Given the description of an element on the screen output the (x, y) to click on. 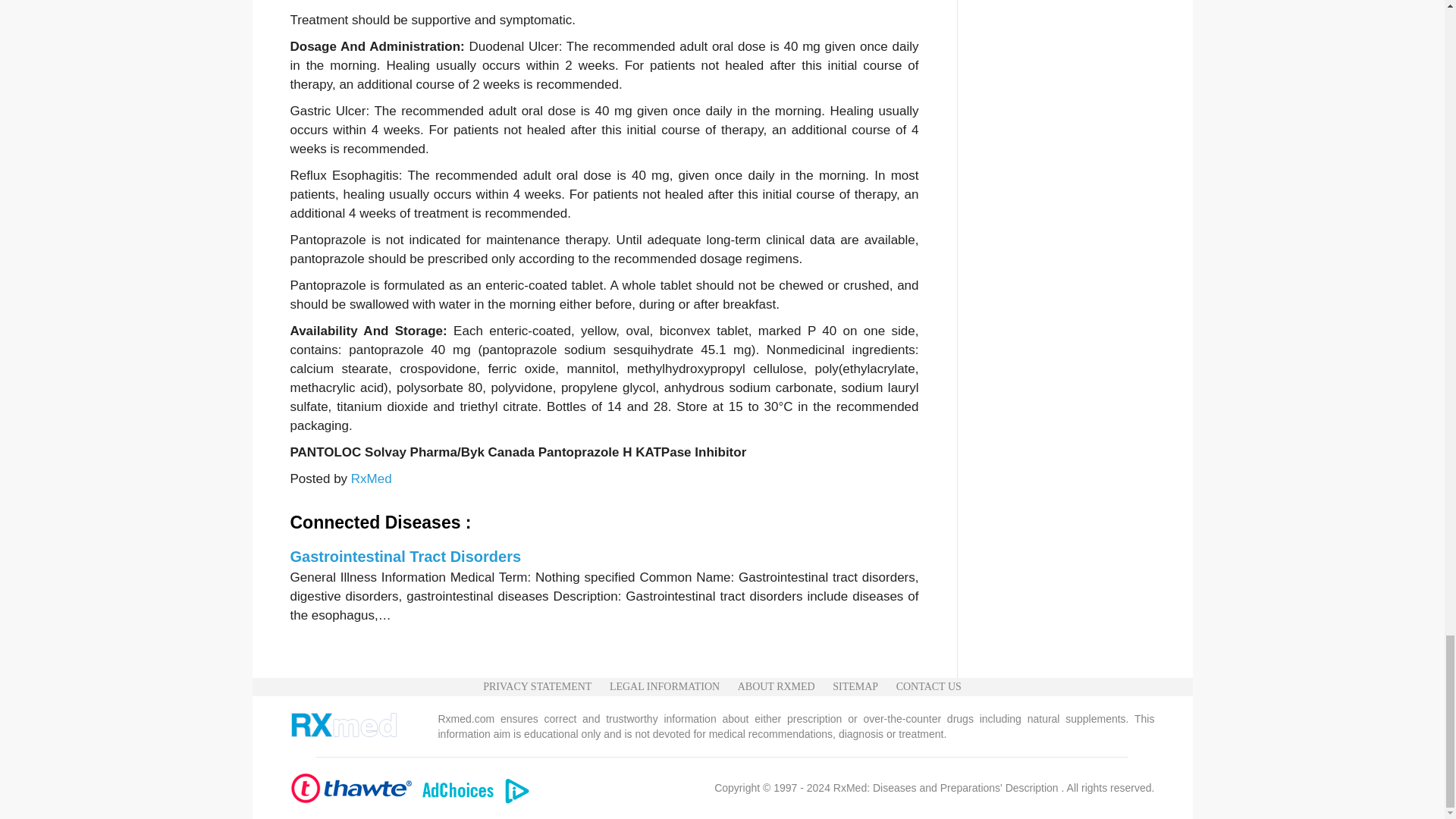
ABOUT RXMED (776, 687)
SITEMAP (855, 687)
CONTACT US (928, 687)
Posts by RxMed (370, 478)
LEGAL INFORMATION (664, 687)
Gastrointestinal Tract Disorders (405, 556)
Gastrointestinal Tract Disorders (405, 556)
RxMed (370, 478)
PRIVACY STATEMENT (537, 687)
